Given the description of an element on the screen output the (x, y) to click on. 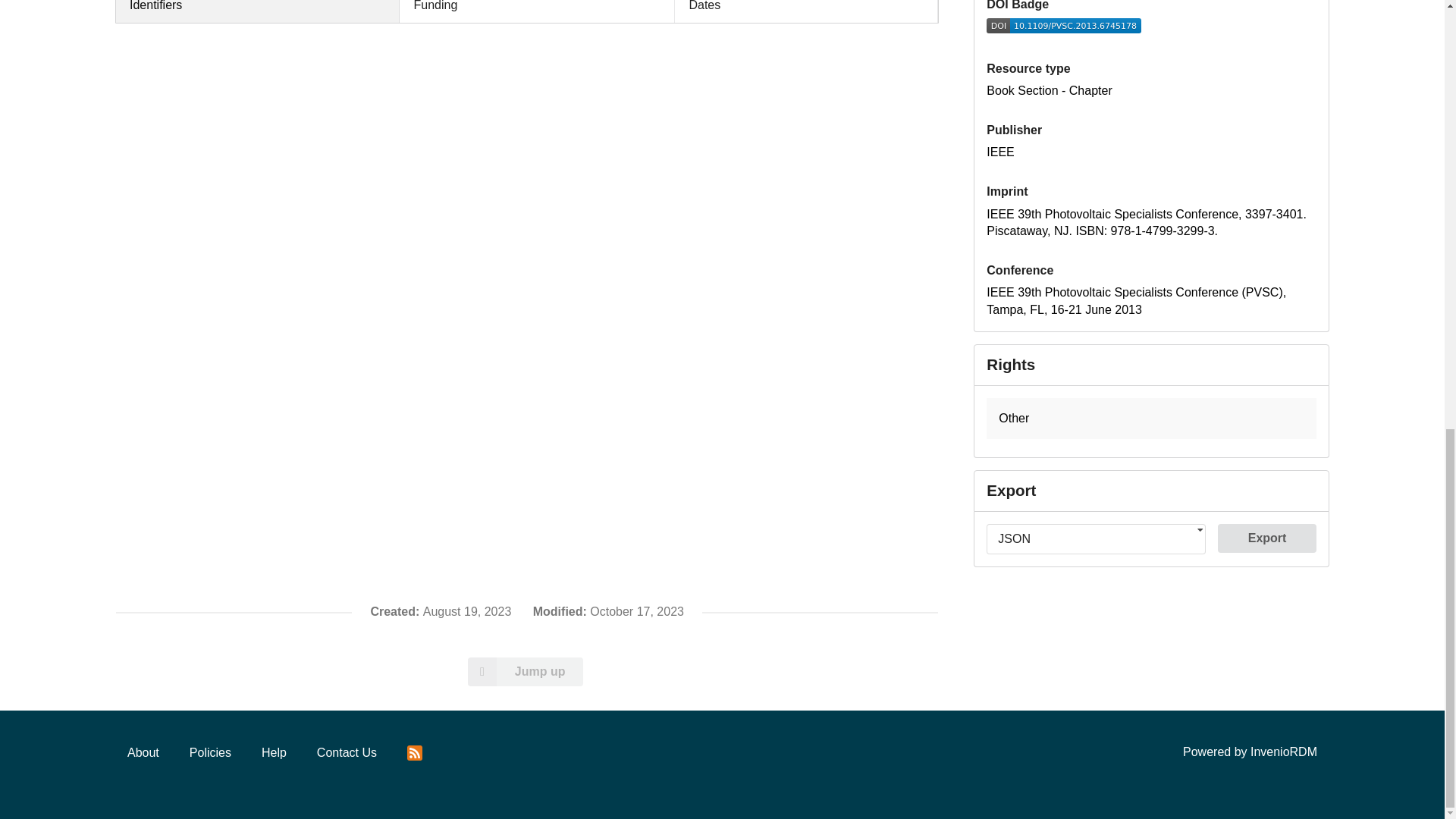
Jump up (525, 671)
About (143, 753)
Download file (1266, 538)
Policies (210, 753)
Get the DOI badge! (1064, 29)
Contact Us (346, 753)
Dates (806, 11)
Export (1266, 538)
Jump up (526, 671)
Identifiers (257, 11)
